Given the description of an element on the screen output the (x, y) to click on. 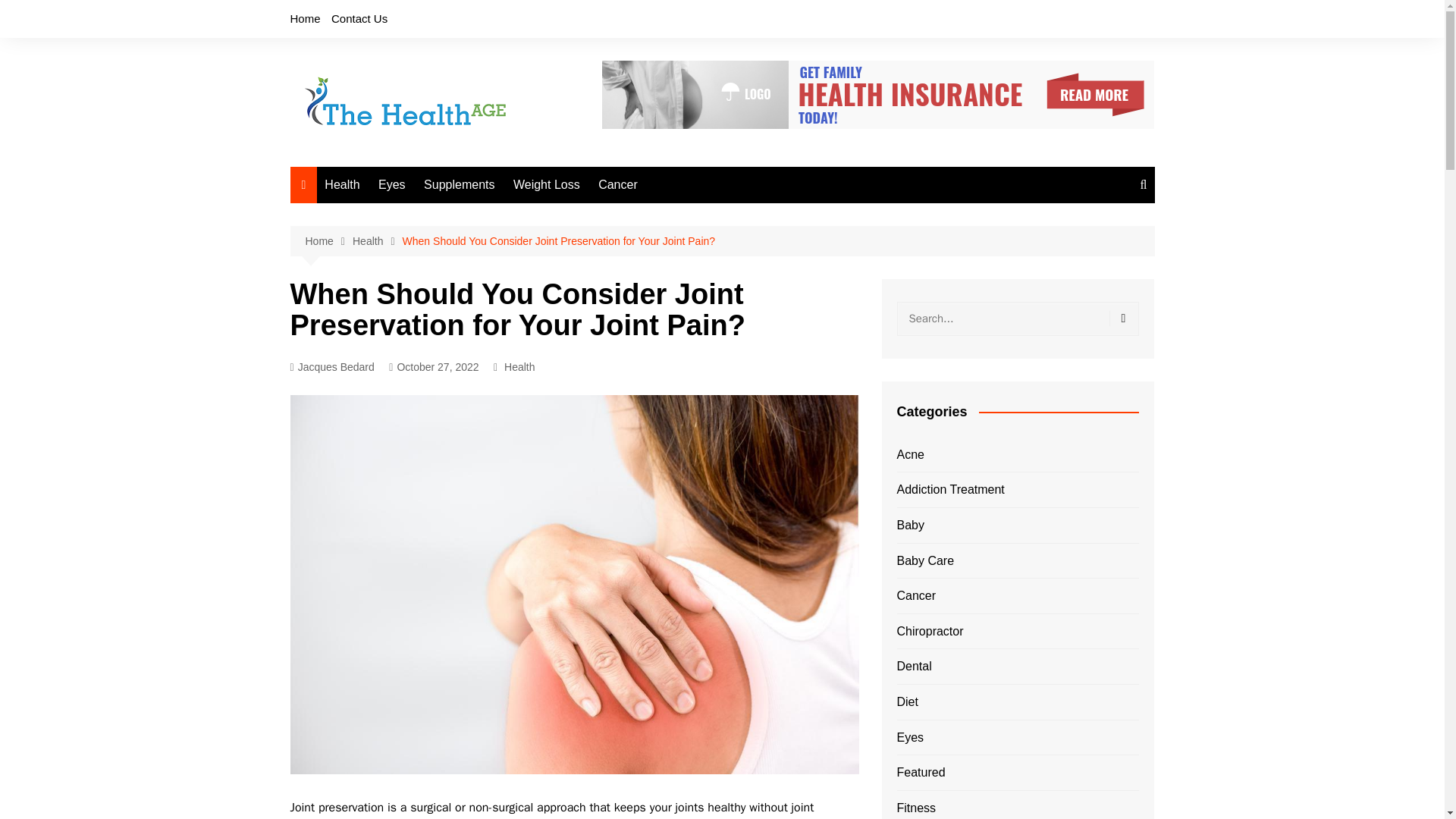
Jacques Bedard (331, 366)
Health (341, 185)
Contact Us (359, 18)
Home (304, 18)
Home (328, 241)
Weight Loss (546, 185)
Health (518, 366)
October 27, 2022 (433, 366)
Eyes (392, 185)
Cancer (618, 185)
Health (377, 241)
Supplements (459, 185)
